Given the description of an element on the screen output the (x, y) to click on. 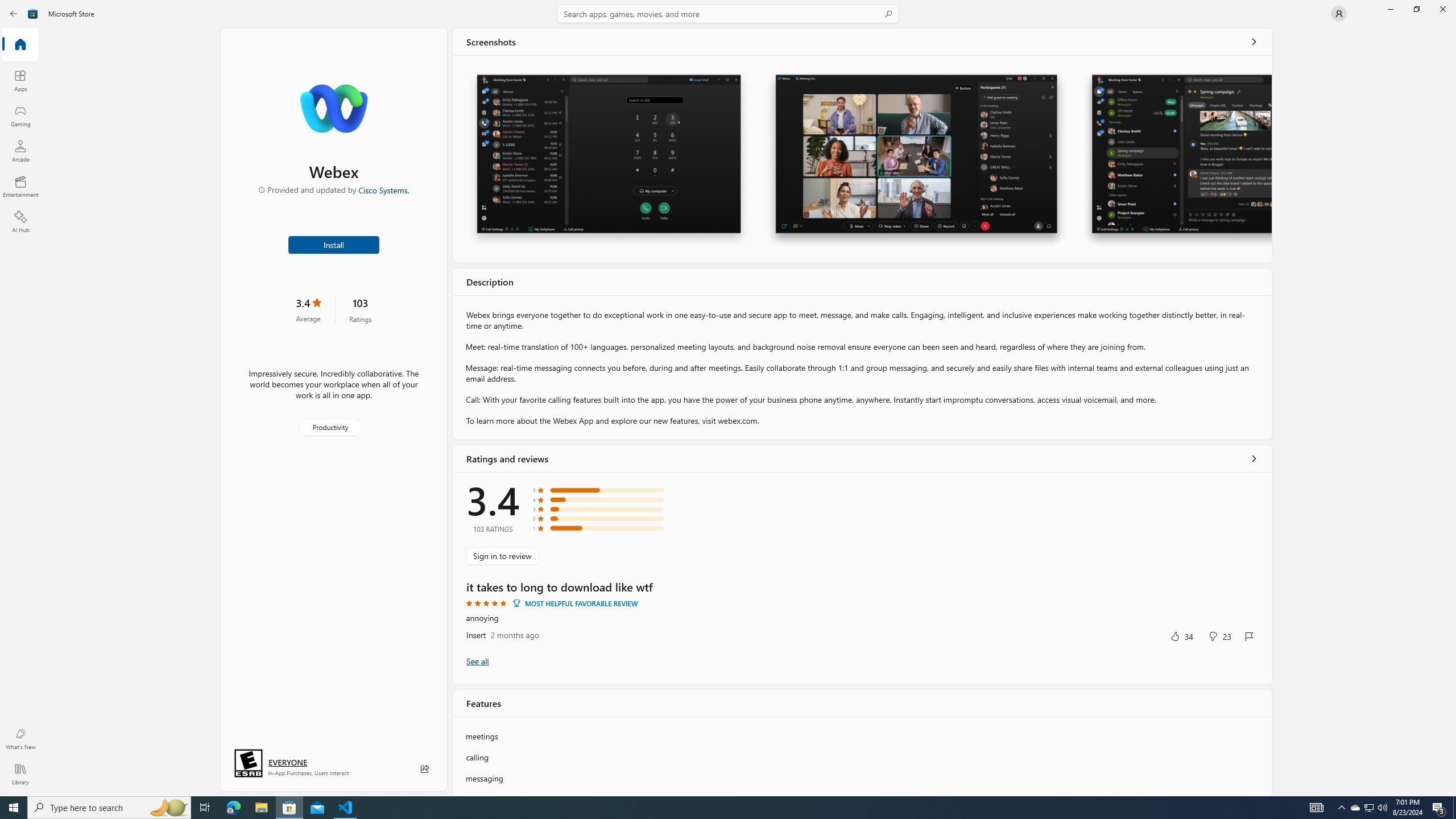
Install (334, 244)
Search (727, 13)
See all (1253, 41)
